Given the description of an element on the screen output the (x, y) to click on. 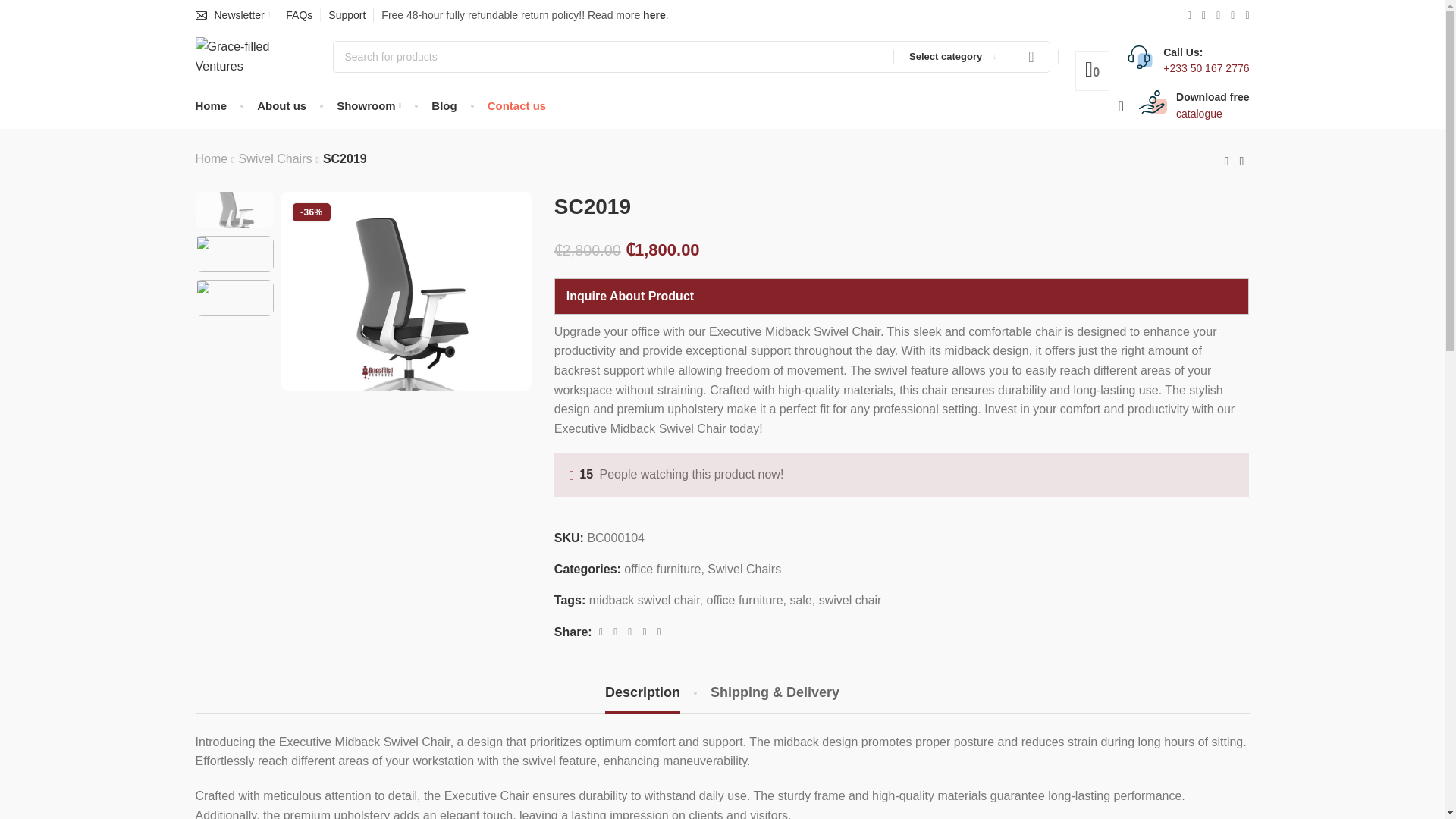
Newsletter (232, 15)
ygi10eydo2foowlm2ffe0nnm-large.png (406, 290)
here (654, 15)
0 (1091, 72)
Select category (952, 56)
Support (346, 15)
FAQs (299, 15)
